Given the description of an element on the screen output the (x, y) to click on. 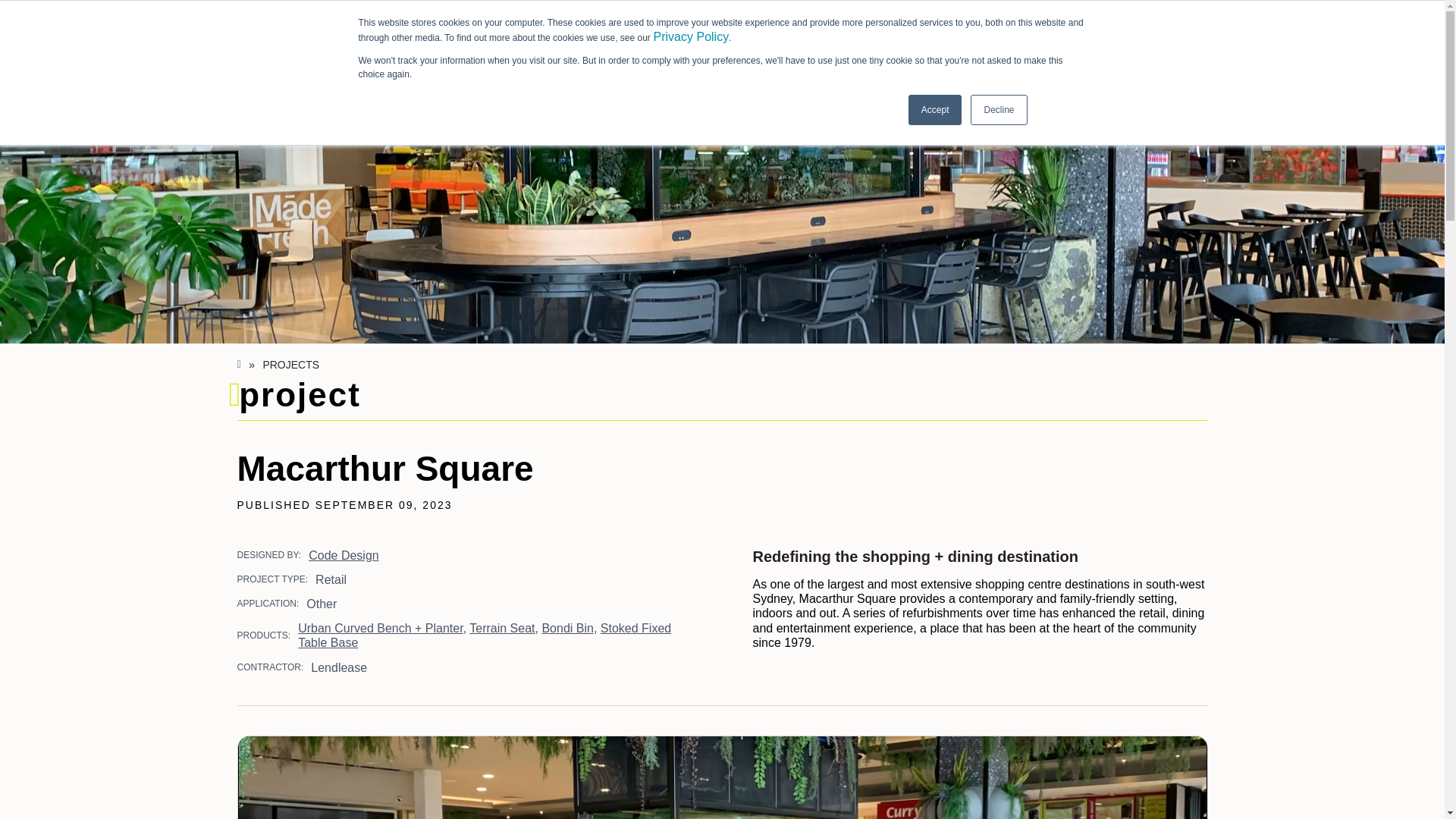
Decline (998, 110)
Accept (935, 110)
Submit (393, 31)
Privacy Policy (691, 36)
products (737, 32)
projects (817, 32)
about (887, 32)
